Given the description of an element on the screen output the (x, y) to click on. 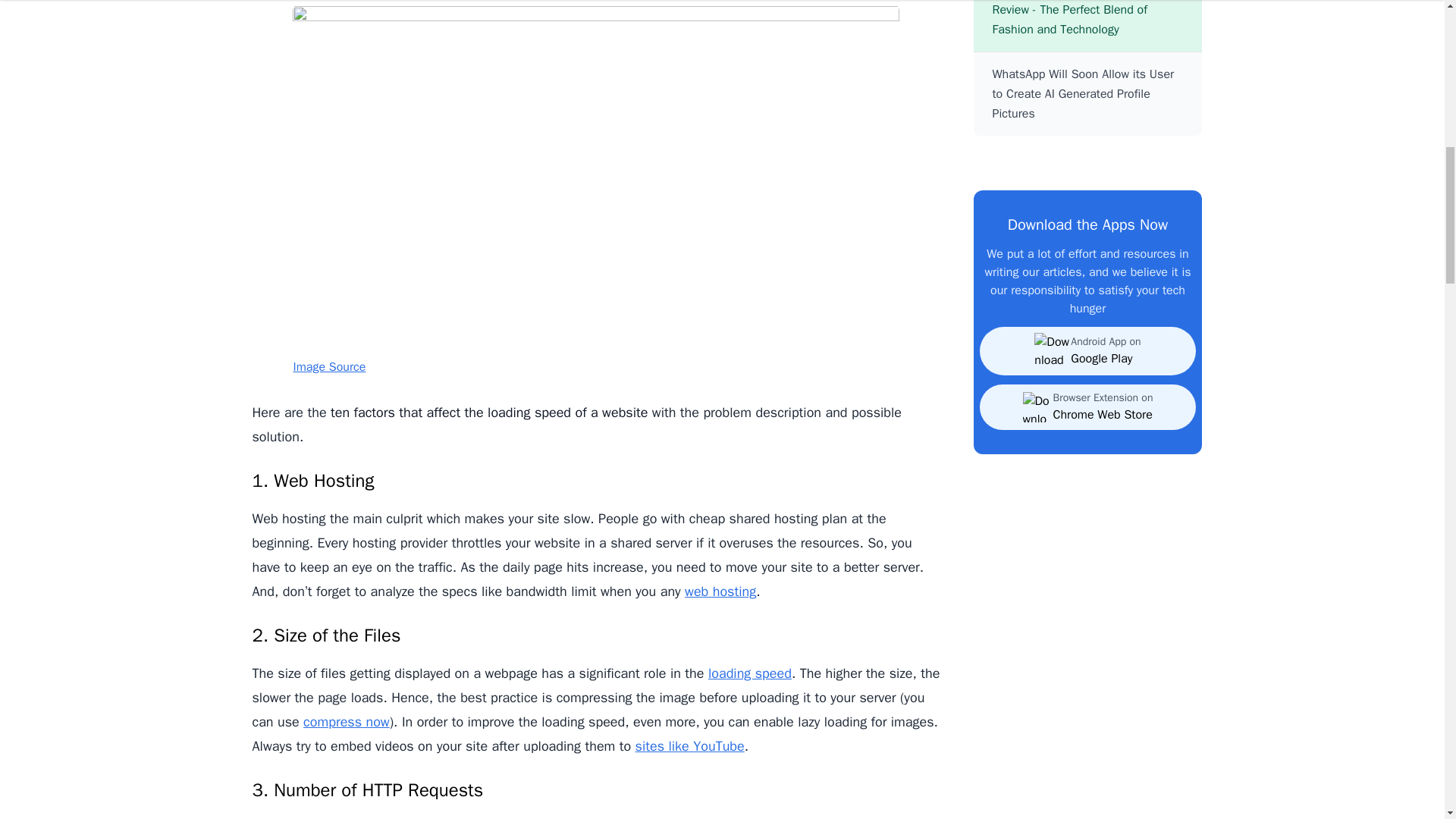
web hosting (719, 591)
sites like YouTube (689, 745)
Image Source (328, 366)
compress now (346, 721)
loading speed (749, 673)
